Given the description of an element on the screen output the (x, y) to click on. 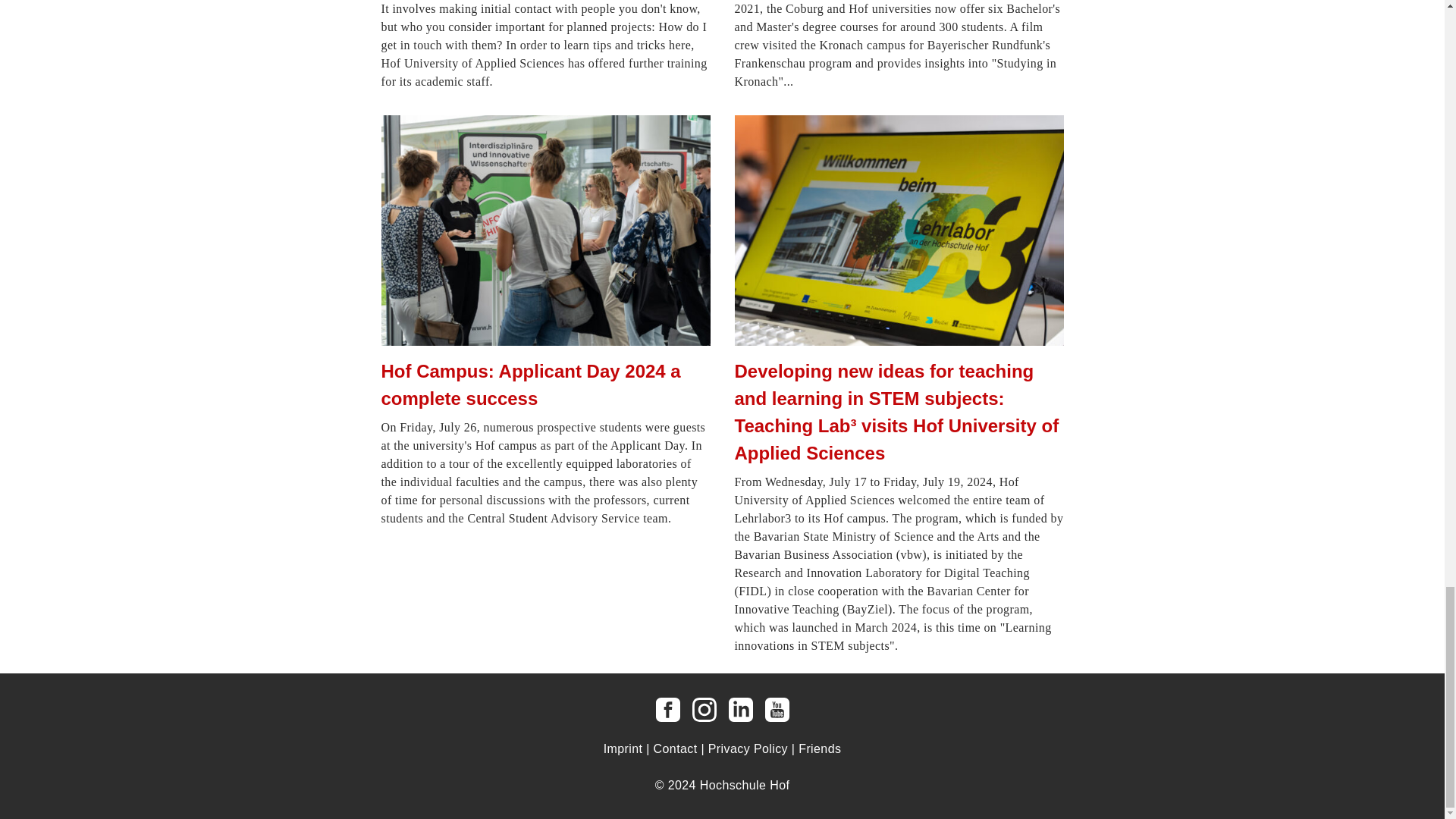
Friends (819, 748)
Contact (675, 748)
Privacy Policy (747, 748)
Imprint (623, 748)
